Given the description of an element on the screen output the (x, y) to click on. 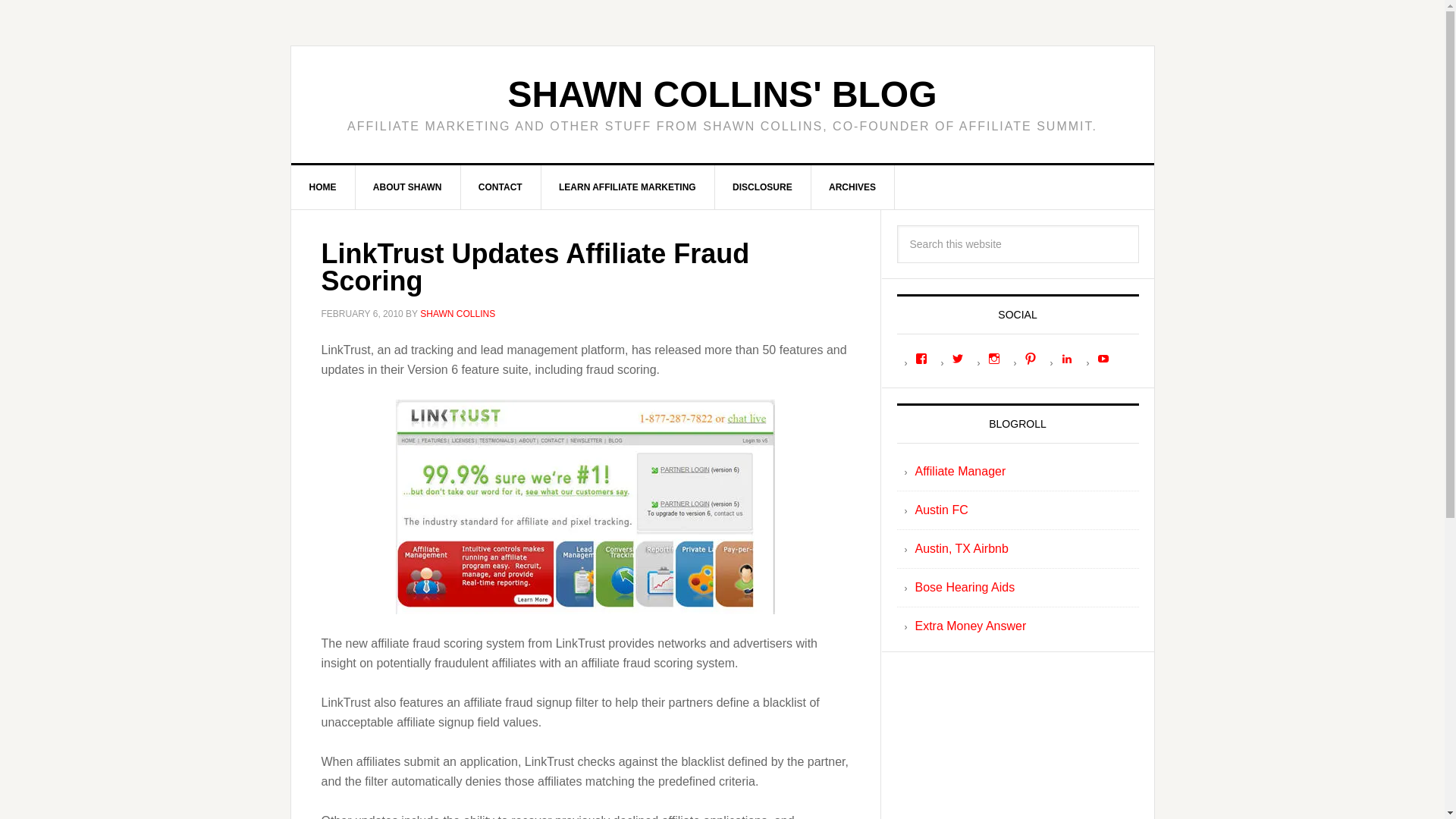
SHAWN COLLINS (457, 313)
HOME (323, 187)
Austin FC (941, 509)
SHAWN COLLINS' BLOG (721, 94)
ARCHIVES (852, 187)
LEARN AFFILIATE MARKETING (627, 187)
Bose Hearing Aids (964, 586)
Affiliate Manager (960, 471)
Austin, TX Airbnb (960, 548)
DISCLOSURE (762, 187)
CONTACT (500, 187)
LinkTrust (585, 505)
